Given the description of an element on the screen output the (x, y) to click on. 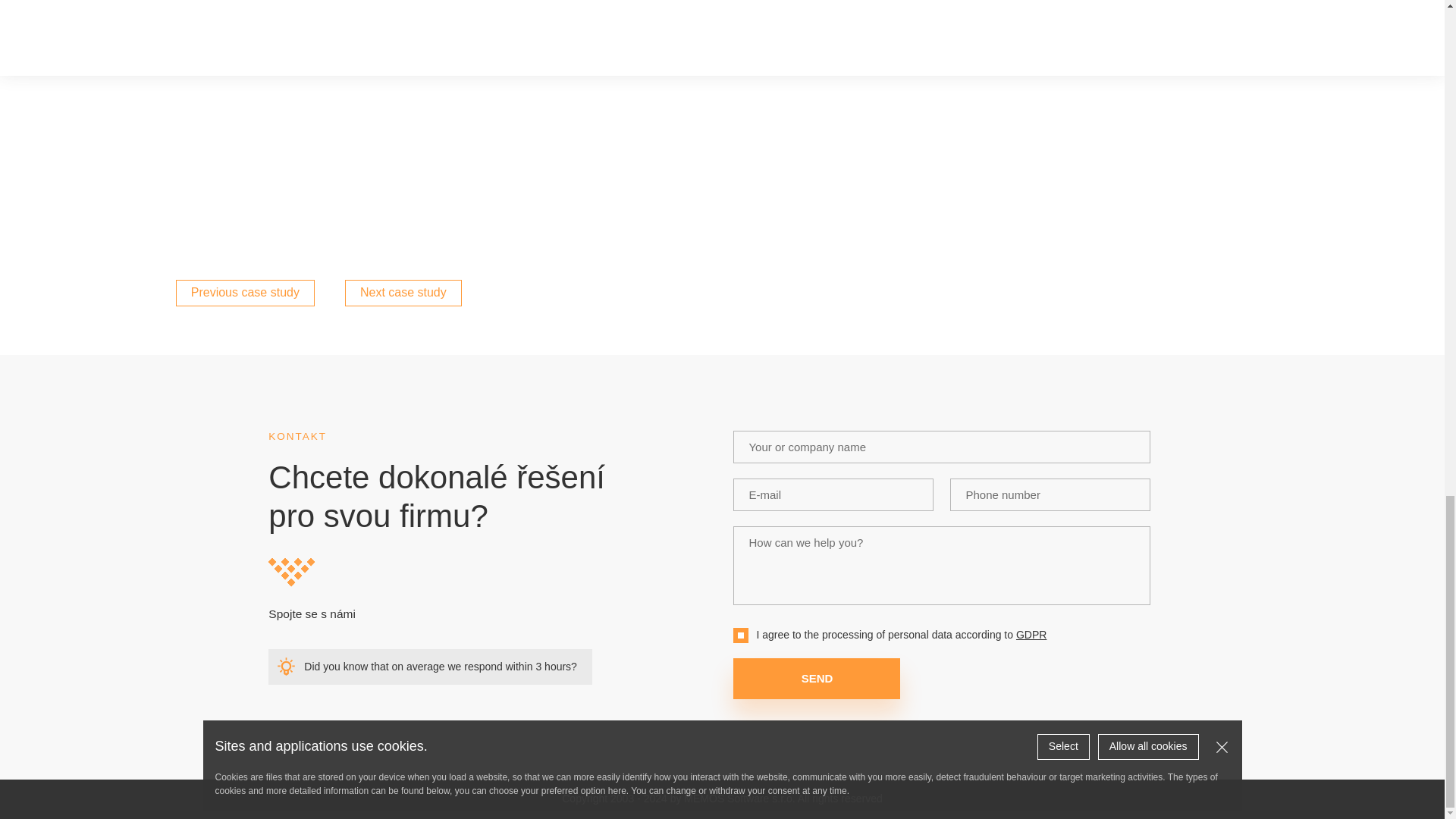
Next case study (403, 293)
SEND (816, 678)
Previous case study (245, 293)
